Given the description of an element on the screen output the (x, y) to click on. 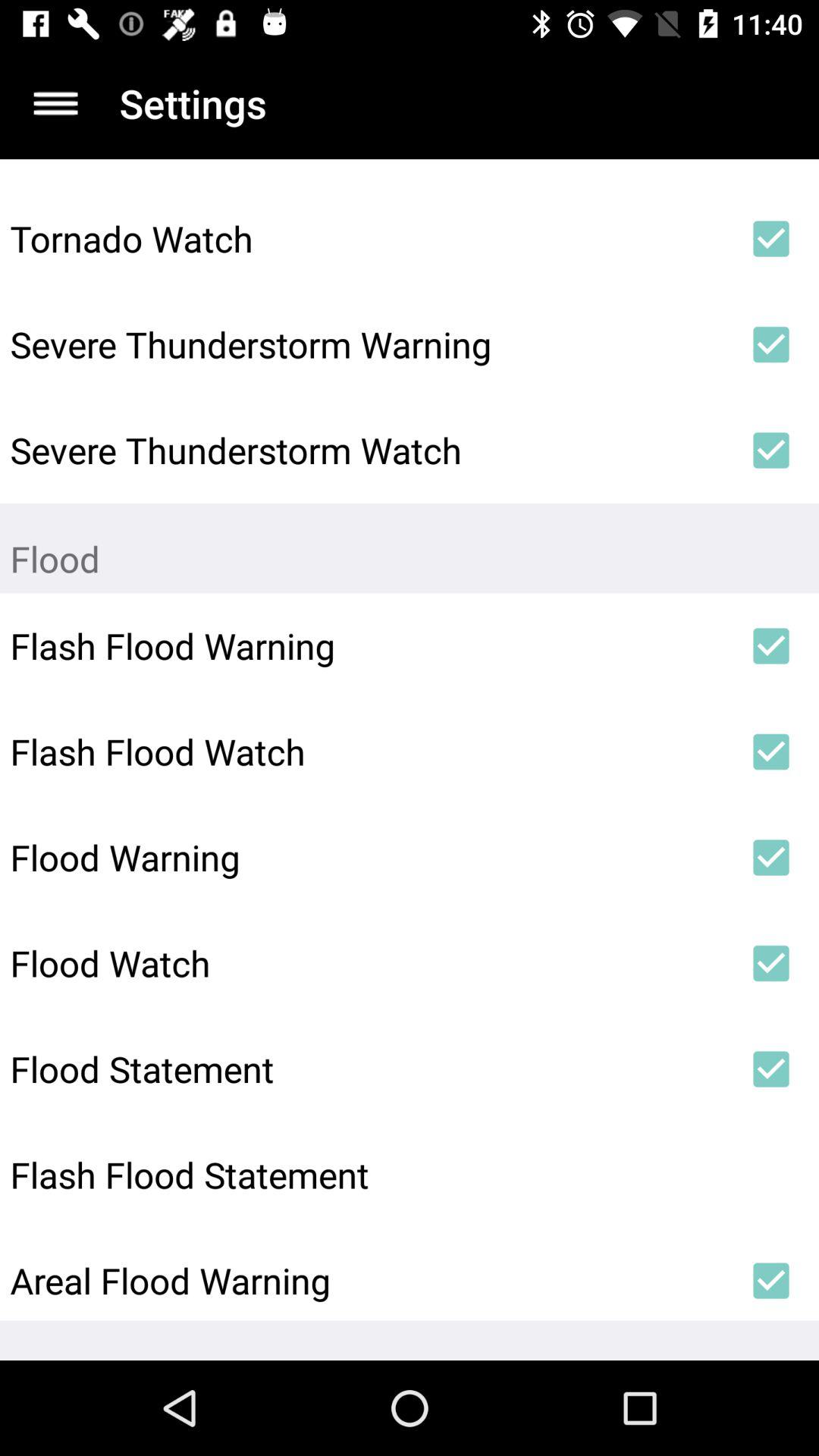
open icon to the right of flash flood watch icon (771, 751)
